Given the description of an element on the screen output the (x, y) to click on. 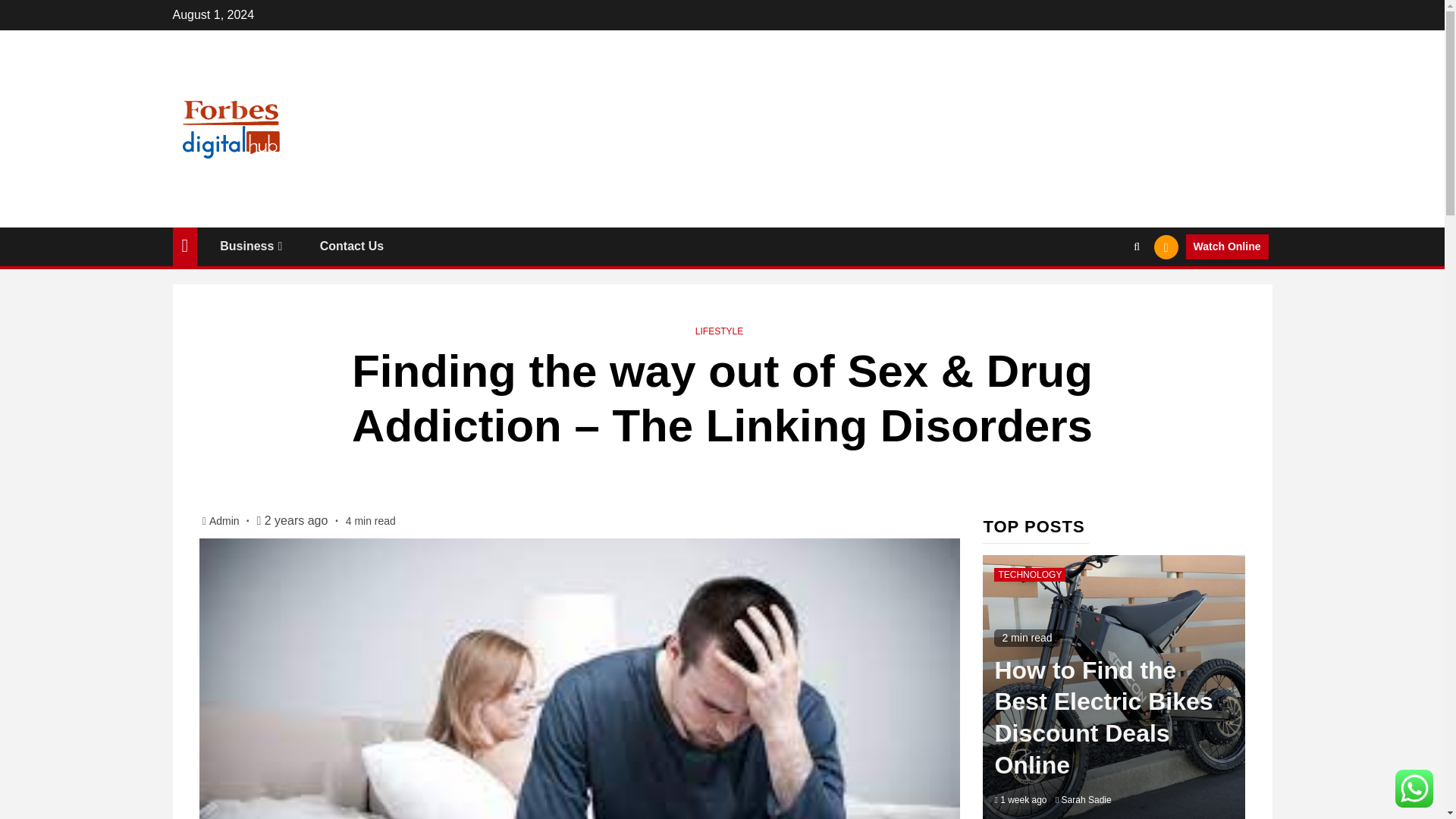
Business (252, 245)
Search (1106, 293)
Contact Us (352, 245)
LIFESTYLE (718, 330)
Watch Online (1227, 247)
Admin (226, 521)
